Given the description of an element on the screen output the (x, y) to click on. 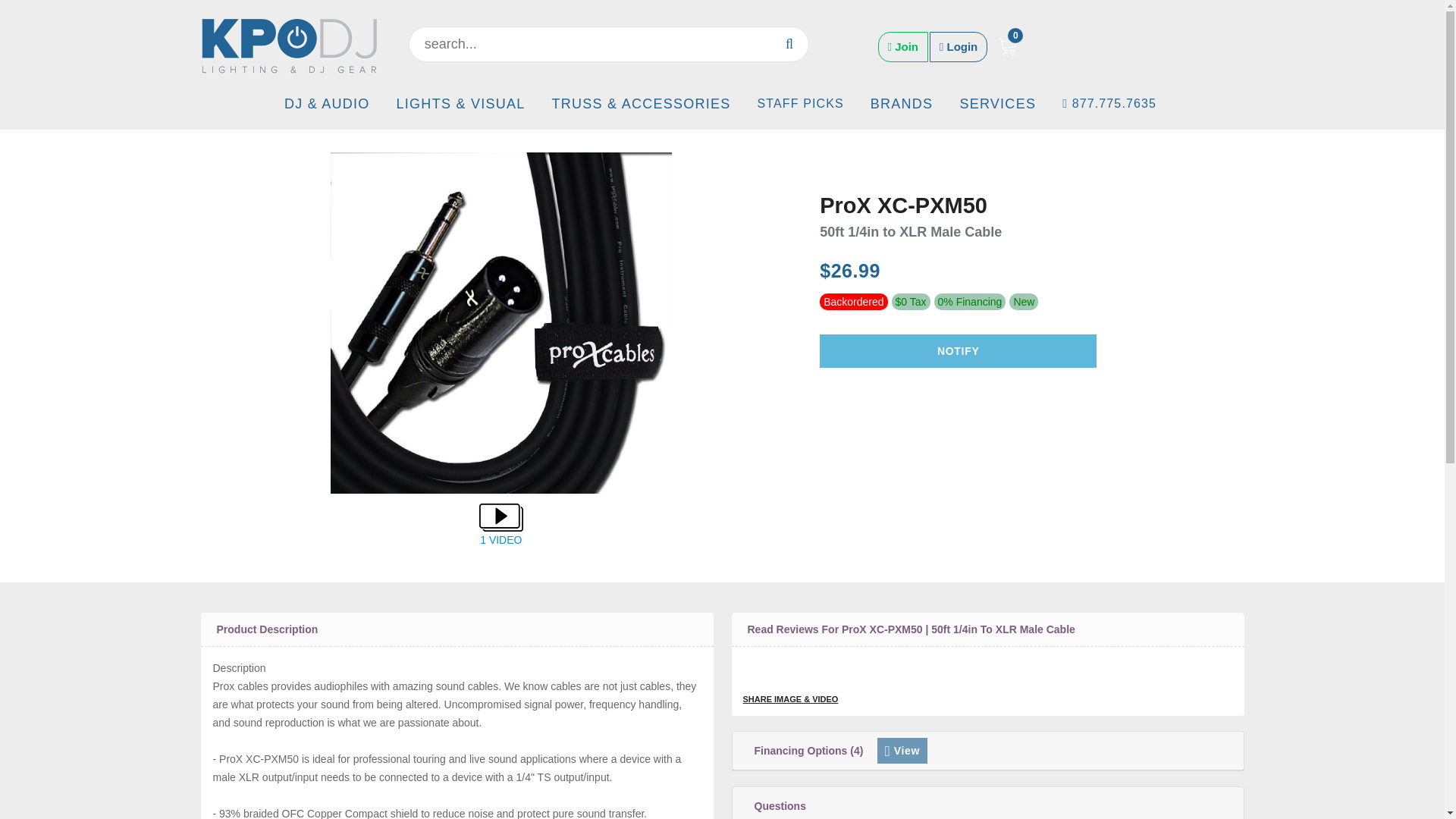
BACKORDERED (853, 301)
  Notify   (957, 350)
NO TAX (910, 301)
Login (958, 46)
Standard Discount (1023, 301)
FINANCING (970, 301)
Join (902, 46)
